Given the description of an element on the screen output the (x, y) to click on. 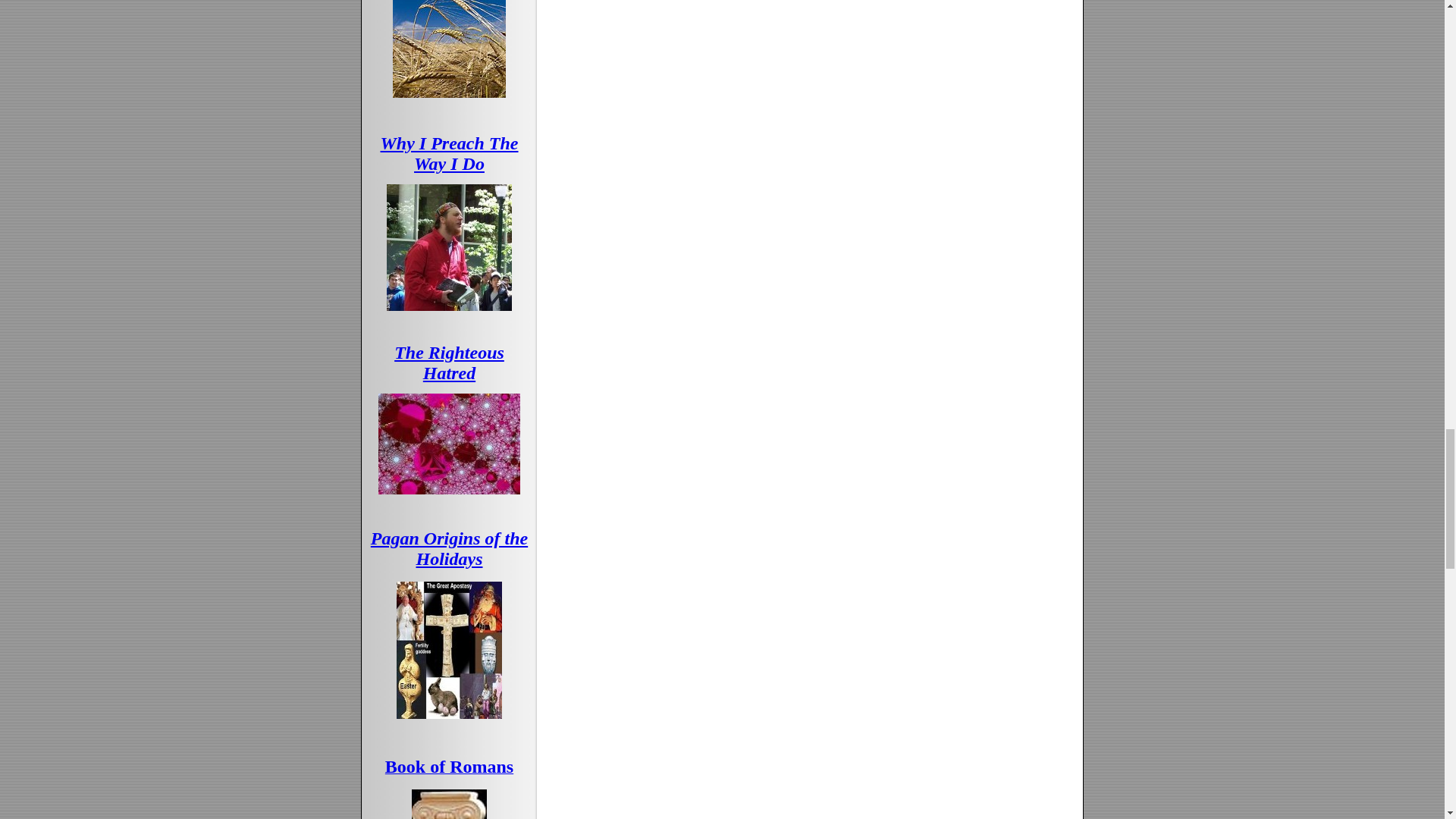
The Righteous Hatred (448, 363)
Pagan Origins of the Holidays (449, 548)
Book of Romans (449, 768)
Why I Preach The Way I Do (449, 153)
